Given the description of an element on the screen output the (x, y) to click on. 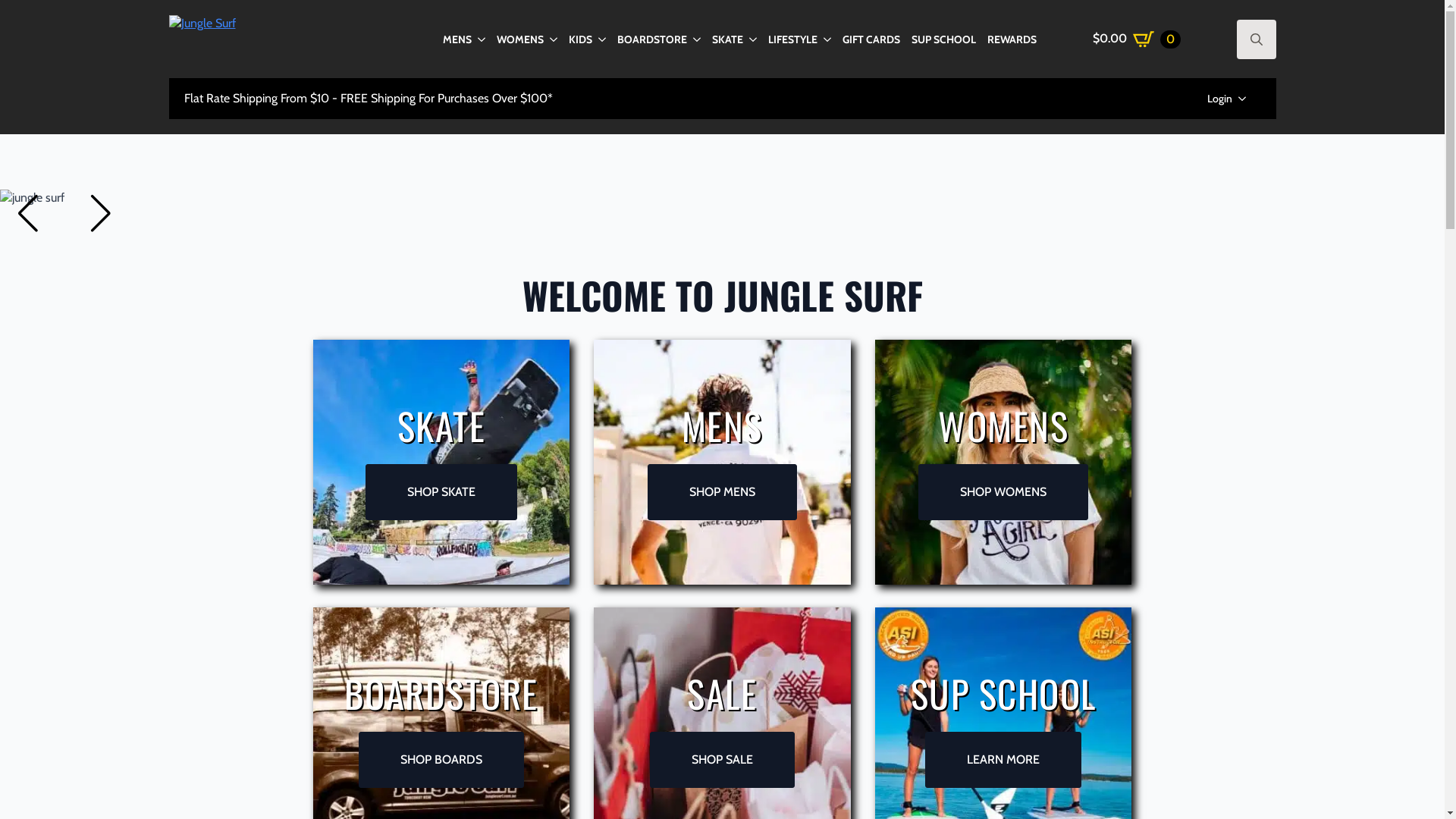
SHOP MENS Element type: text (722, 492)
GIFT CARDS Element type: text (870, 38)
SHOP SALE Element type: text (721, 759)
LIFESTYLE Element type: text (791, 38)
SHOP SKATE Element type: text (441, 492)
BOARDSTORE Element type: text (652, 38)
SKATE Element type: text (726, 38)
KIDS Element type: text (580, 38)
SUP SCHOOL Element type: text (943, 38)
SHOP BOARDS Element type: text (441, 759)
LEARN MORE Element type: text (1003, 759)
$0.00
0 Element type: text (1136, 38)
REWARDS Element type: text (1011, 38)
WOMENS Element type: text (518, 38)
MENS Element type: text (456, 38)
Login Element type: text (1212, 98)
SHOP WOMENS Element type: text (1003, 492)
